Given the description of an element on the screen output the (x, y) to click on. 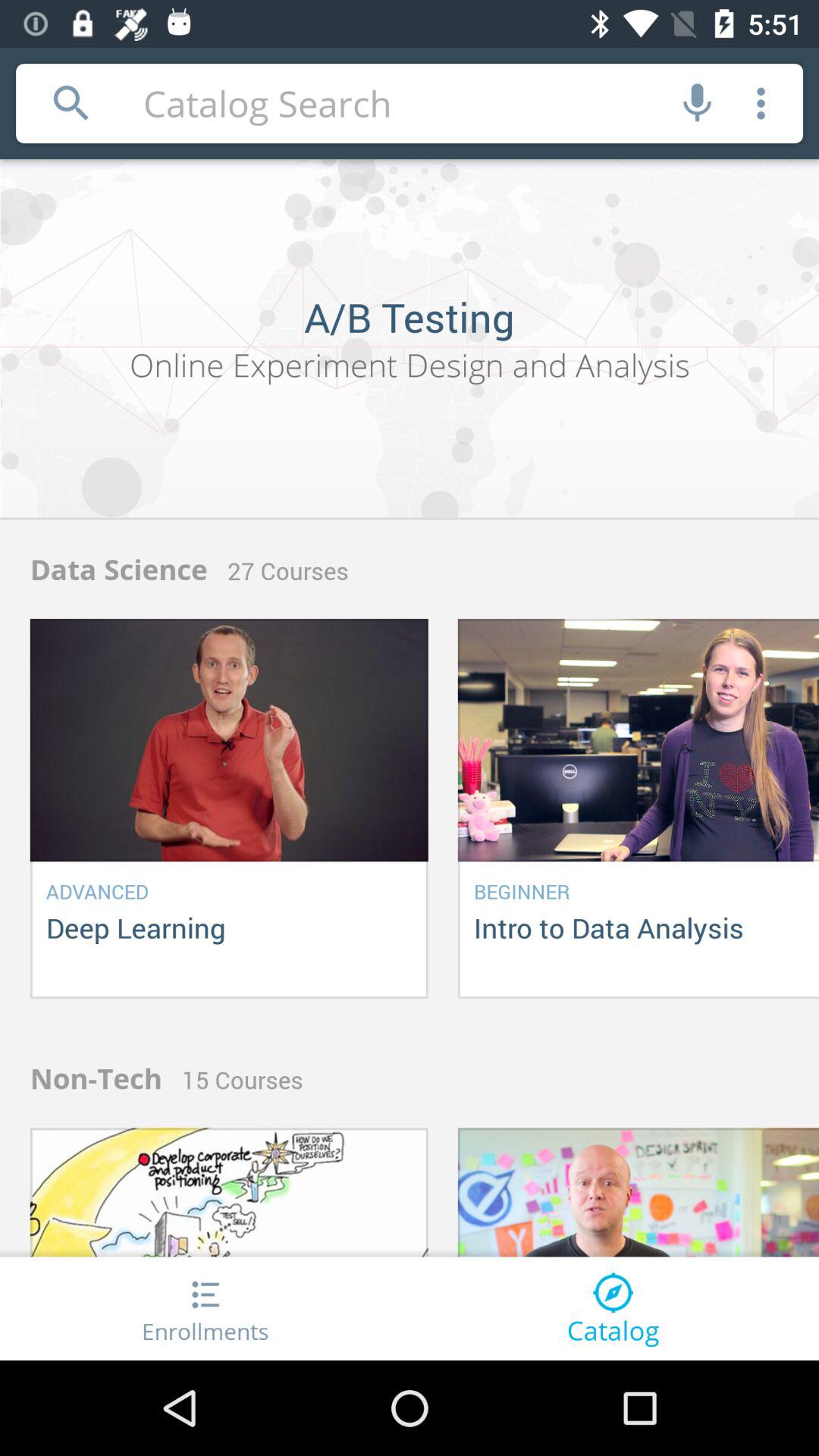
use microphone to search (697, 103)
